Given the description of an element on the screen output the (x, y) to click on. 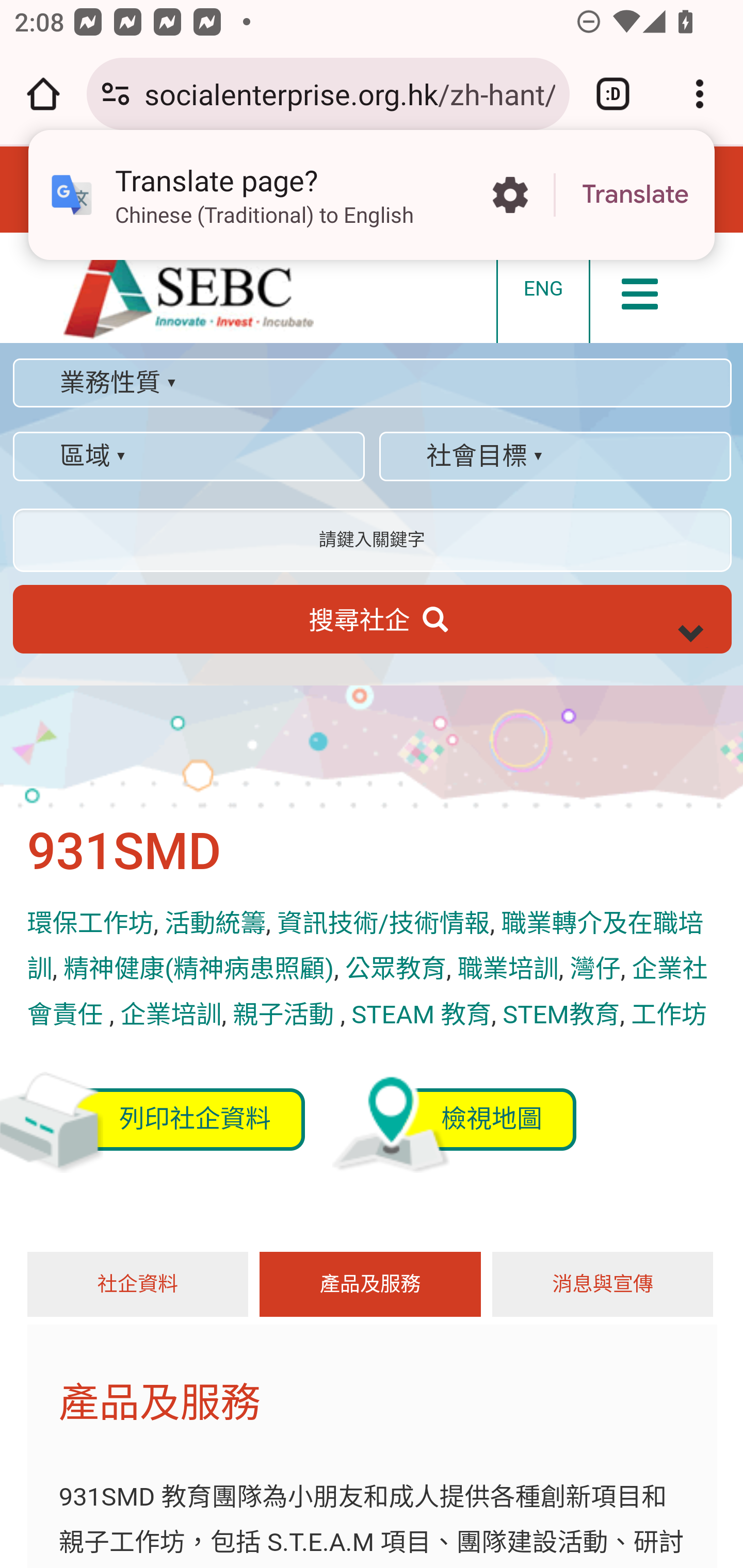
Open the home page (43, 93)
Connection is secure (115, 93)
Switch or close tabs (612, 93)
Customize and control Google Chrome (699, 93)
Translate (634, 195)
More options in the Translate page? (509, 195)
